Given the description of an element on the screen output the (x, y) to click on. 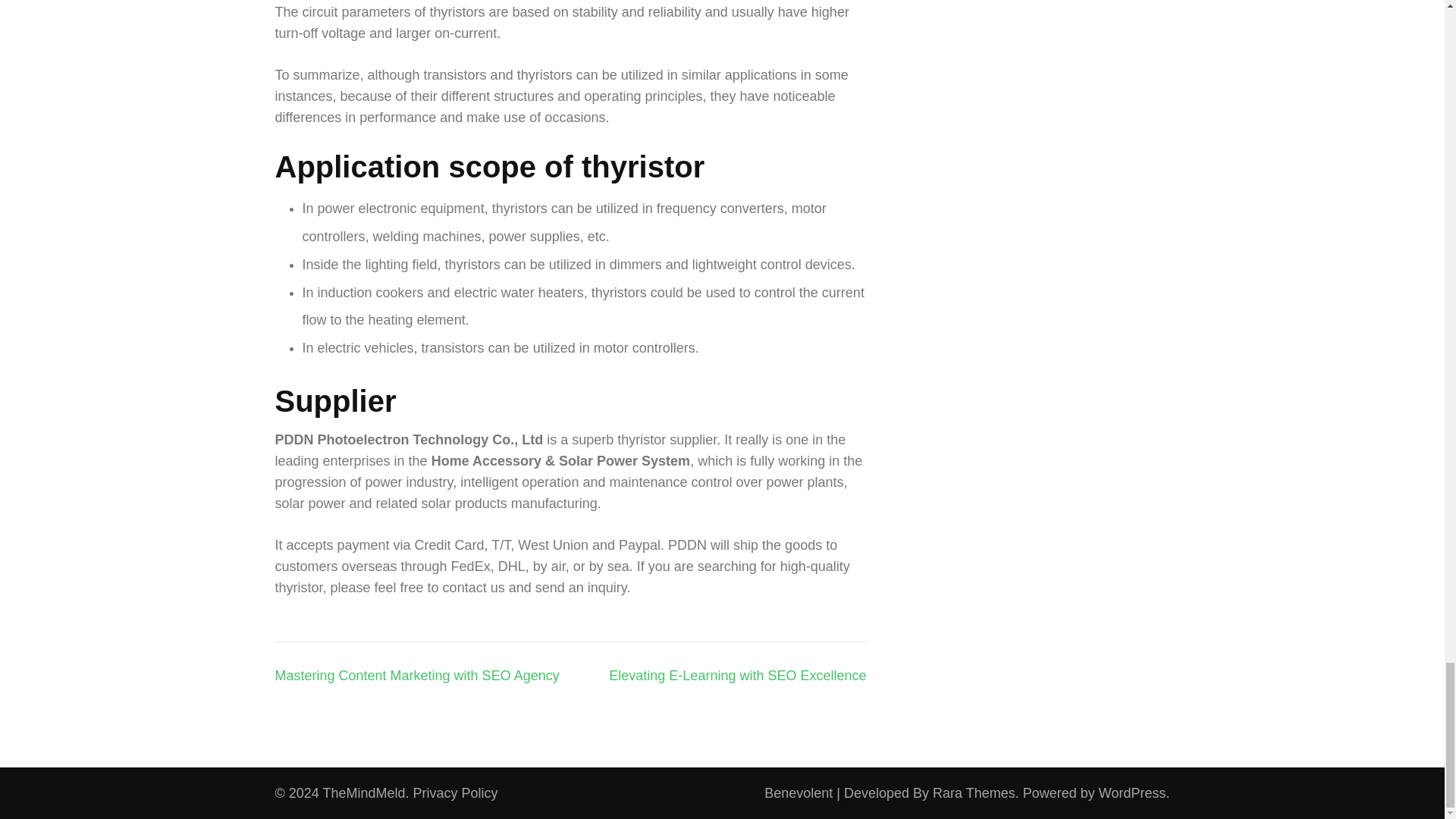
Elevating E-Learning with SEO Excellence (737, 675)
Mastering Content Marketing with SEO Agency (417, 675)
